Given the description of an element on the screen output the (x, y) to click on. 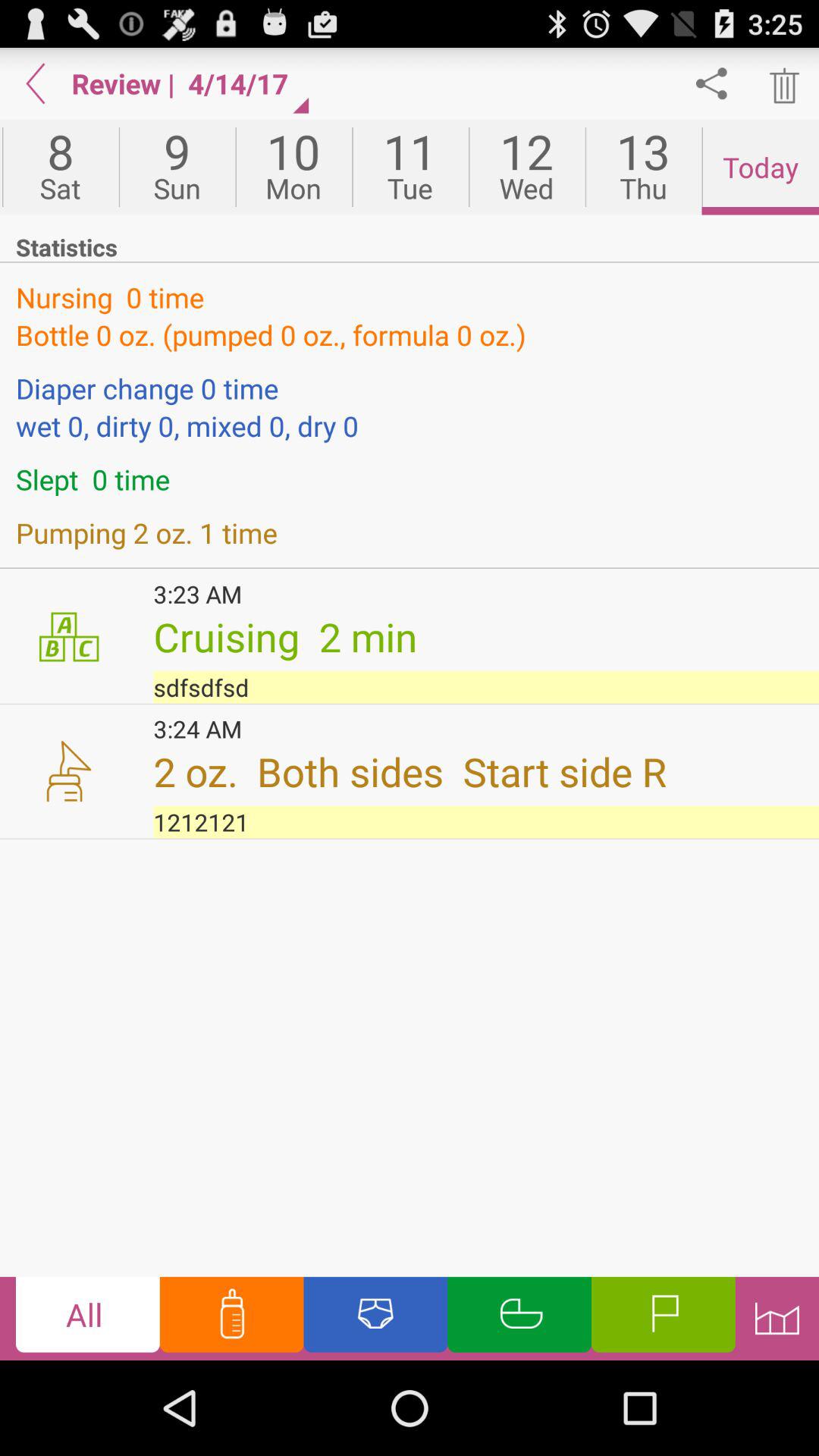
choose the item above statistics icon (760, 166)
